Given the description of an element on the screen output the (x, y) to click on. 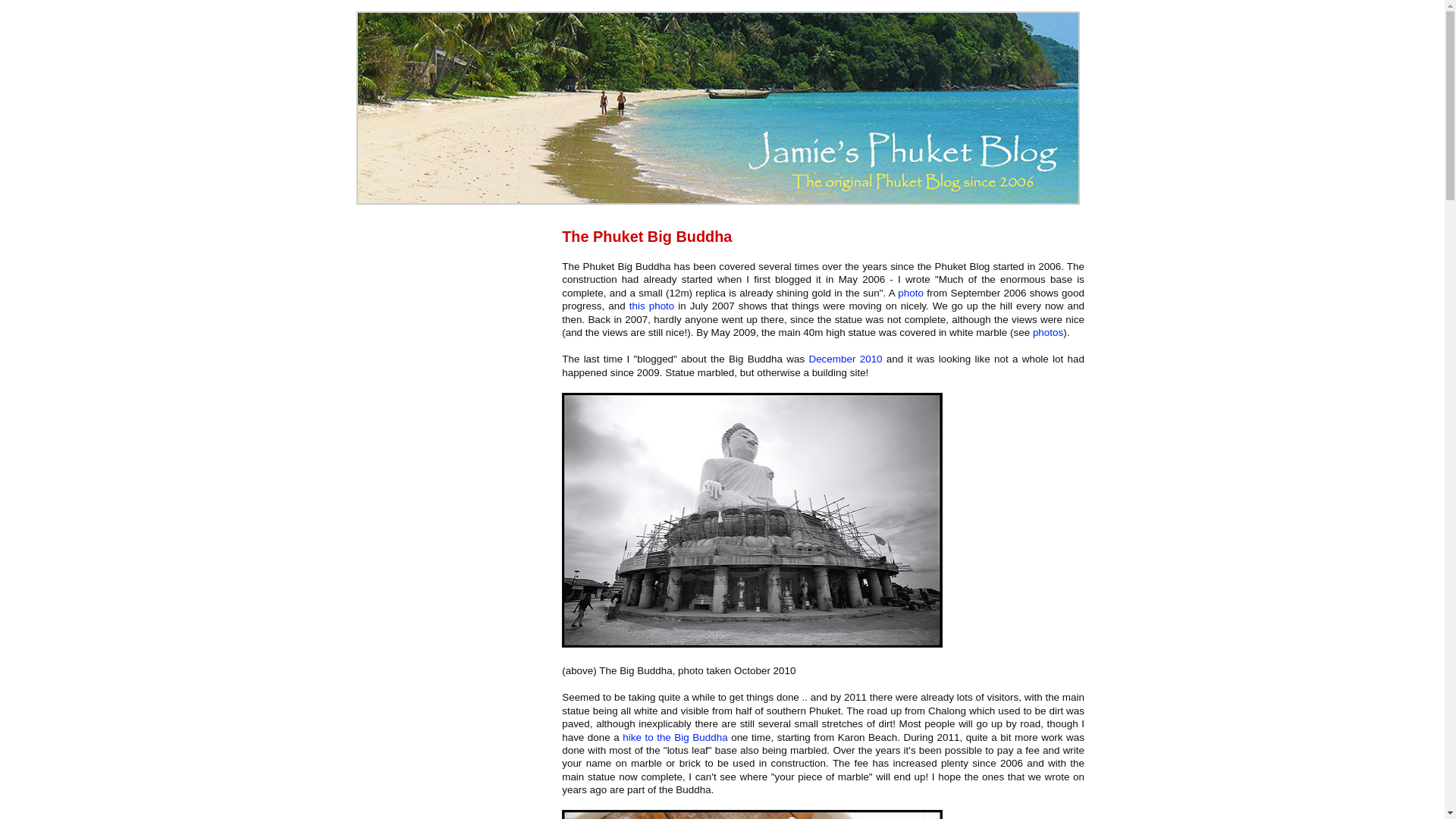
December 2010 (845, 358)
This is Jamie's Phuket Blog (718, 201)
this photo (651, 306)
hike to the Big Buddha (674, 737)
photo (910, 292)
photos (1047, 332)
